Given the description of an element on the screen output the (x, y) to click on. 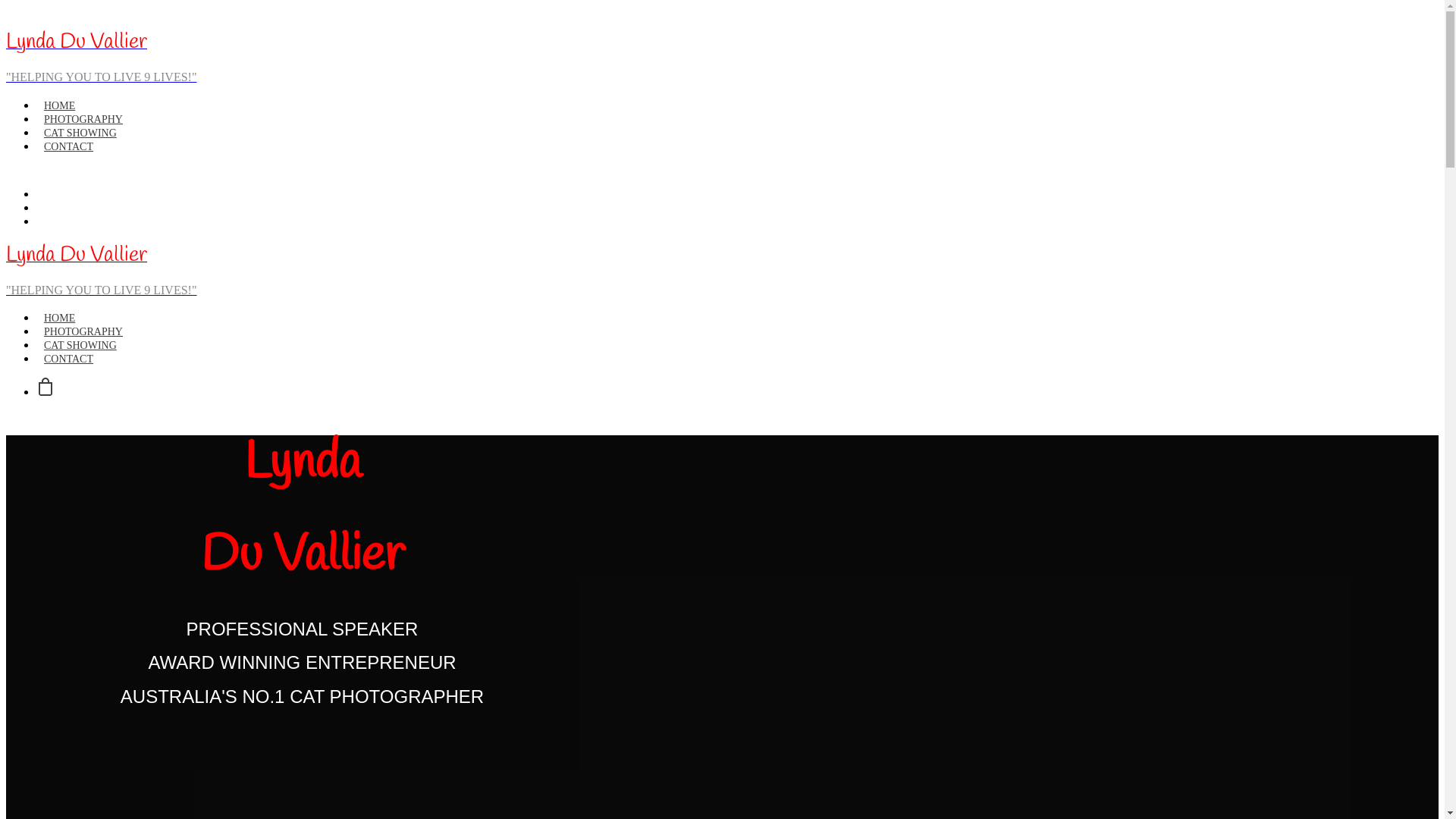
Cart Element type: hover (45, 391)
CAT SHOWING Element type: text (80, 345)
Lynda Du Vallier
"HELPING YOU TO LIVE 9 LIVES!" Element type: text (423, 56)
HOME Element type: text (59, 317)
Lynda Du Vallier
"HELPING YOU TO LIVE 9 LIVES!" Element type: text (722, 269)
CONTACT Element type: text (68, 358)
HOME Element type: text (59, 105)
CONTACT Element type: text (68, 146)
CAT SHOWING Element type: text (80, 132)
PHOTOGRAPHY Element type: text (83, 331)
PHOTOGRAPHY Element type: text (83, 119)
